Given the description of an element on the screen output the (x, y) to click on. 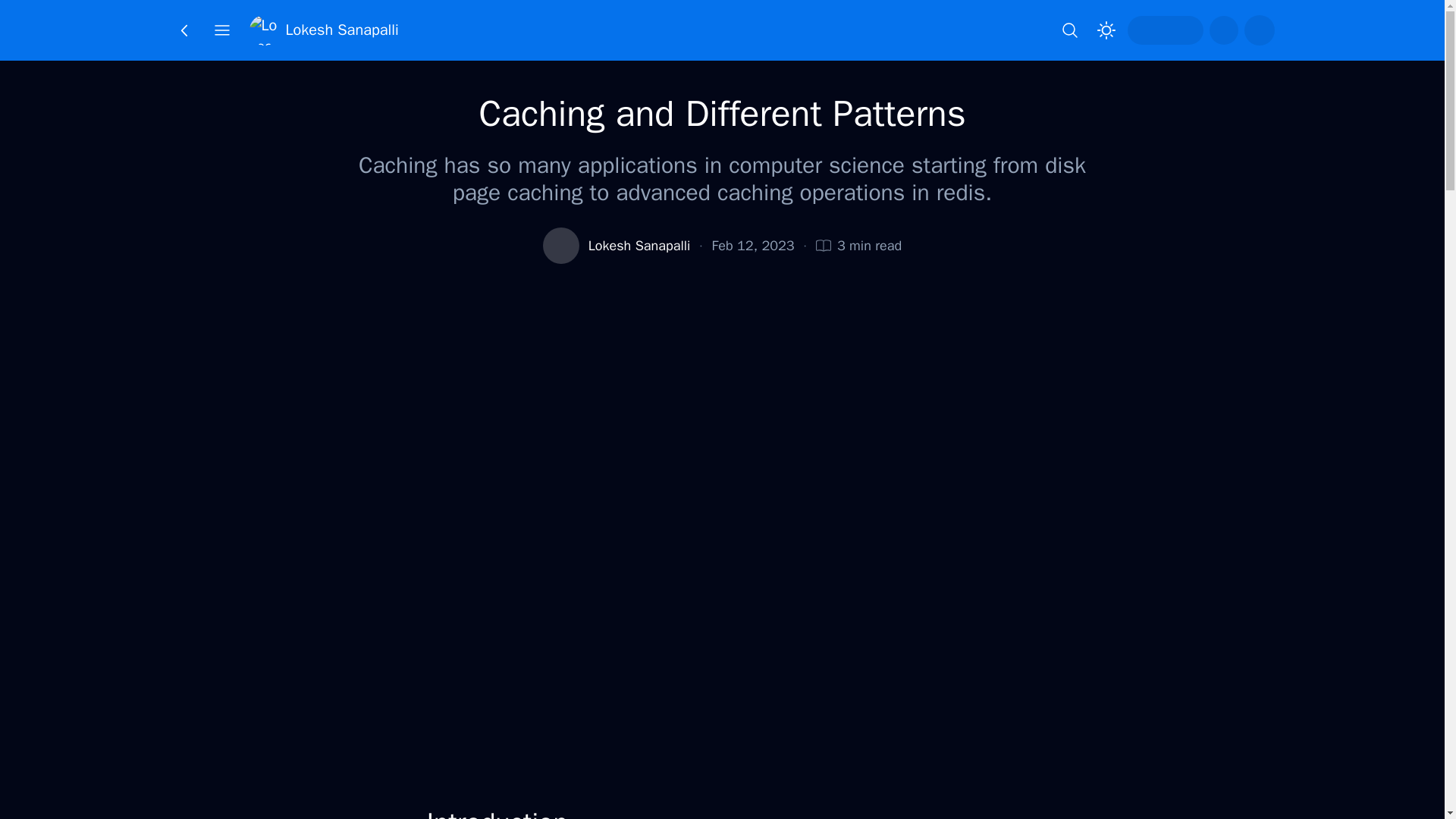
Lokesh Sanapalli (322, 30)
Feb 12, 2023 (752, 245)
Lokesh Sanapalli (639, 245)
